Given the description of an element on the screen output the (x, y) to click on. 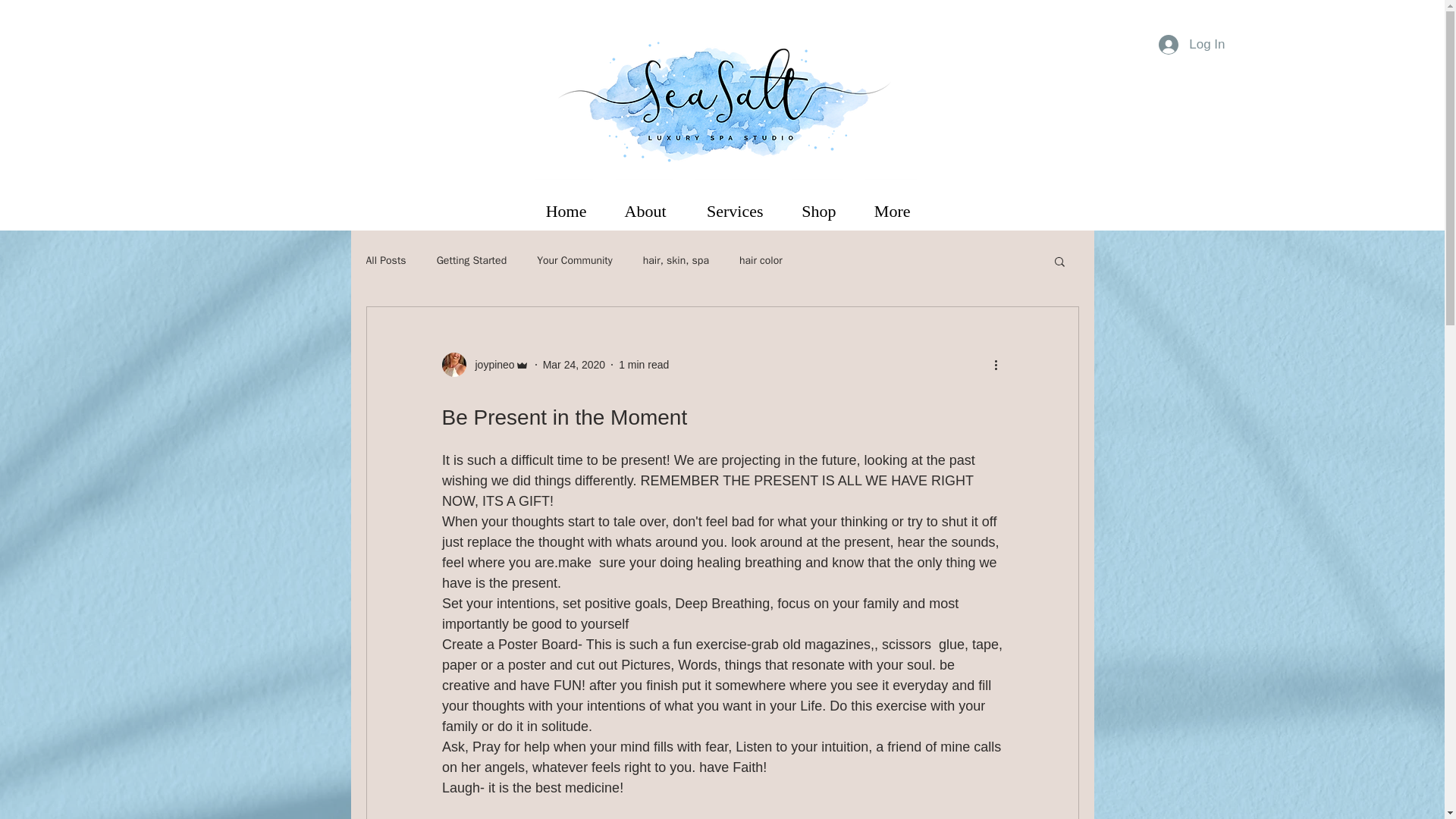
hair, skin, spa (676, 260)
All Posts (385, 260)
hair color (761, 260)
1 min read (643, 363)
Home (563, 204)
Shop (816, 204)
Getting Started (471, 260)
About (643, 204)
joypineo (484, 364)
Services (732, 204)
